Given the description of an element on the screen output the (x, y) to click on. 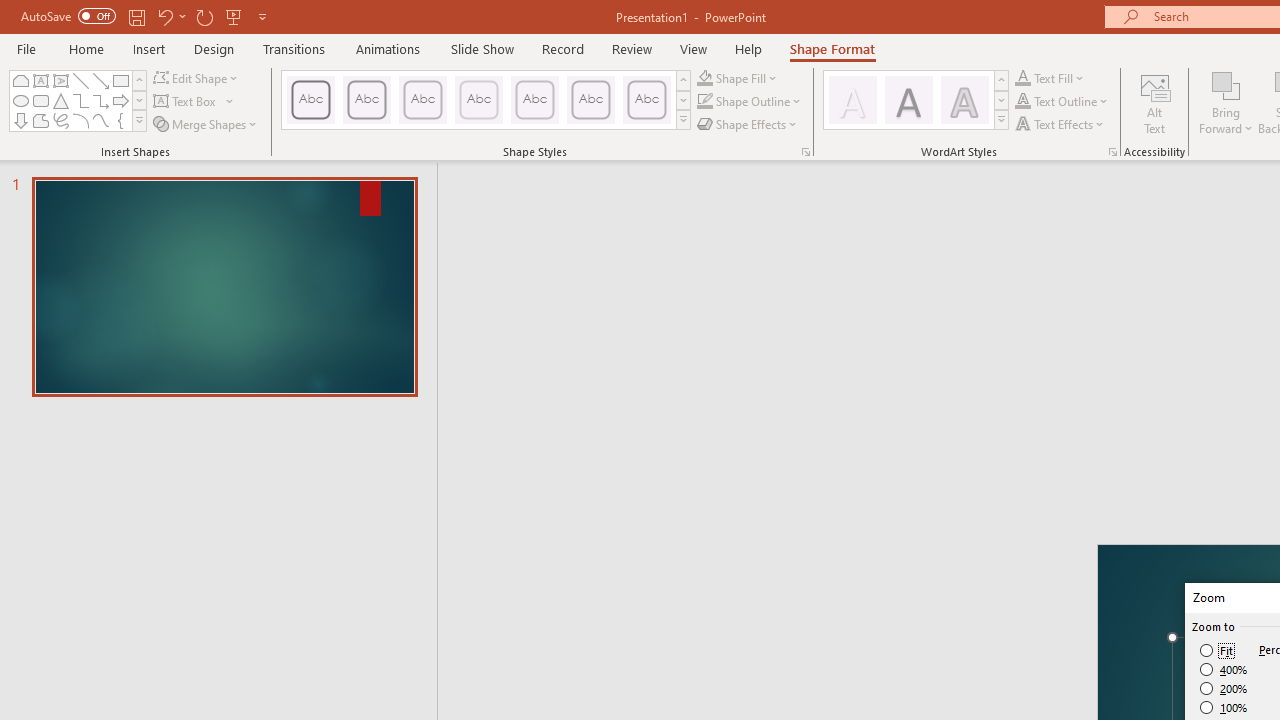
100% (1224, 707)
Colored Outline - Purple, Accent 6 (646, 100)
Rectangle: Top Corners Snipped (20, 80)
Fill: Dark Red, Accent color 1; Shadow (908, 100)
